Given the description of an element on the screen output the (x, y) to click on. 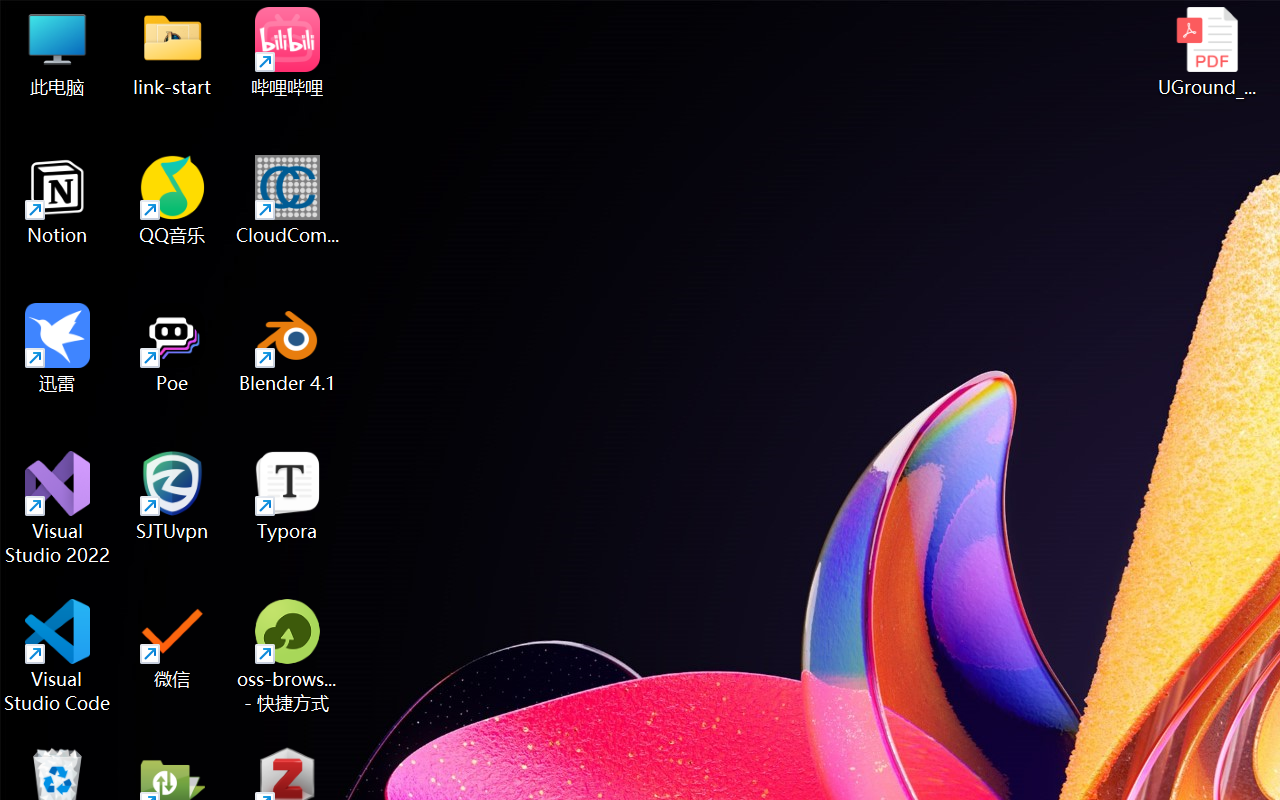
Blender 4.1 (287, 348)
Visual Studio 2022 (57, 508)
Typora (287, 496)
CloudCompare (287, 200)
UGround_paper.pdf (1206, 52)
Visual Studio Code (57, 656)
